Given the description of an element on the screen output the (x, y) to click on. 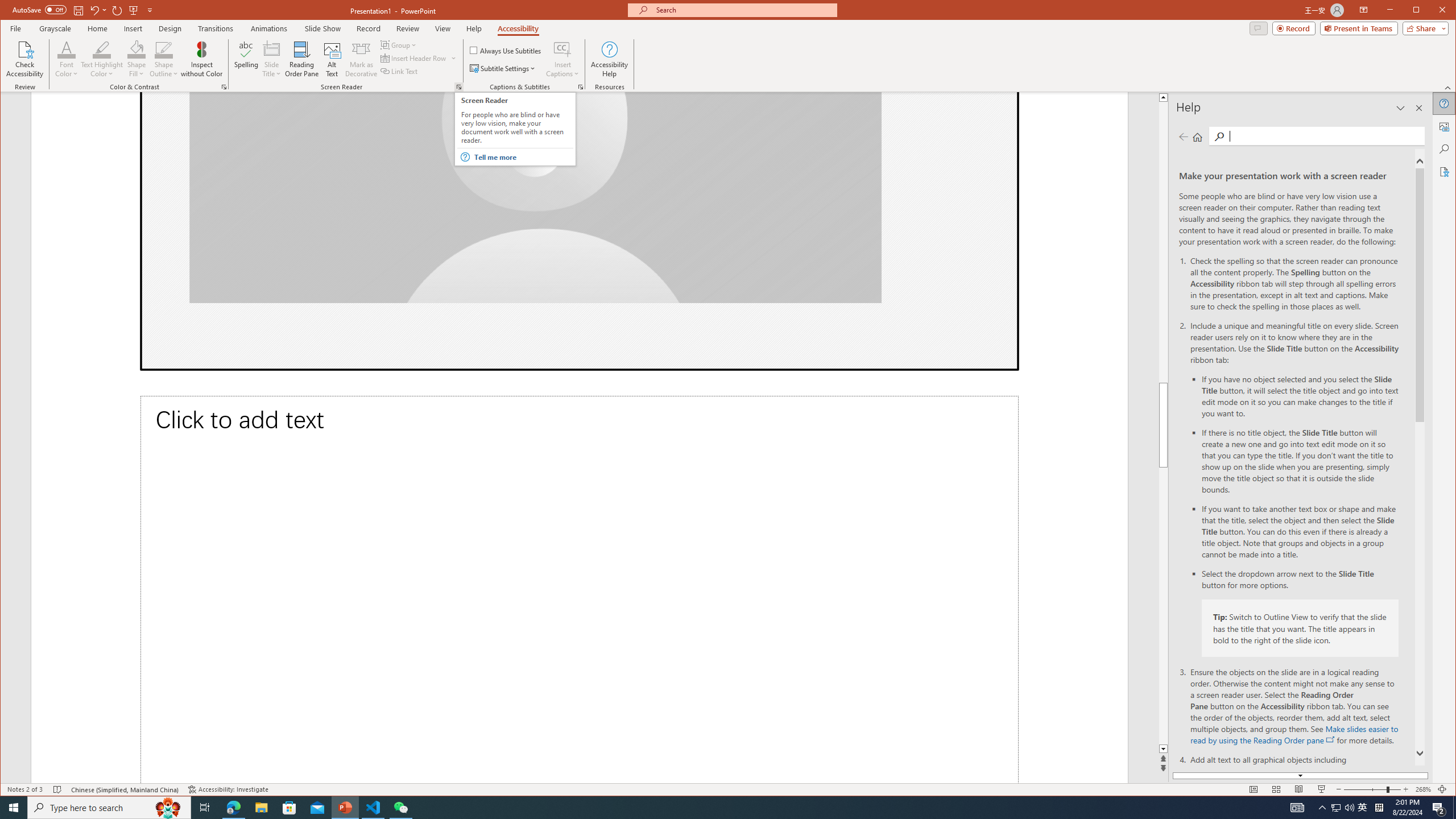
Page up (1279, 241)
Mark as Decorative (360, 59)
Tell me more (523, 157)
Color & Contrast (223, 86)
